Given the description of an element on the screen output the (x, y) to click on. 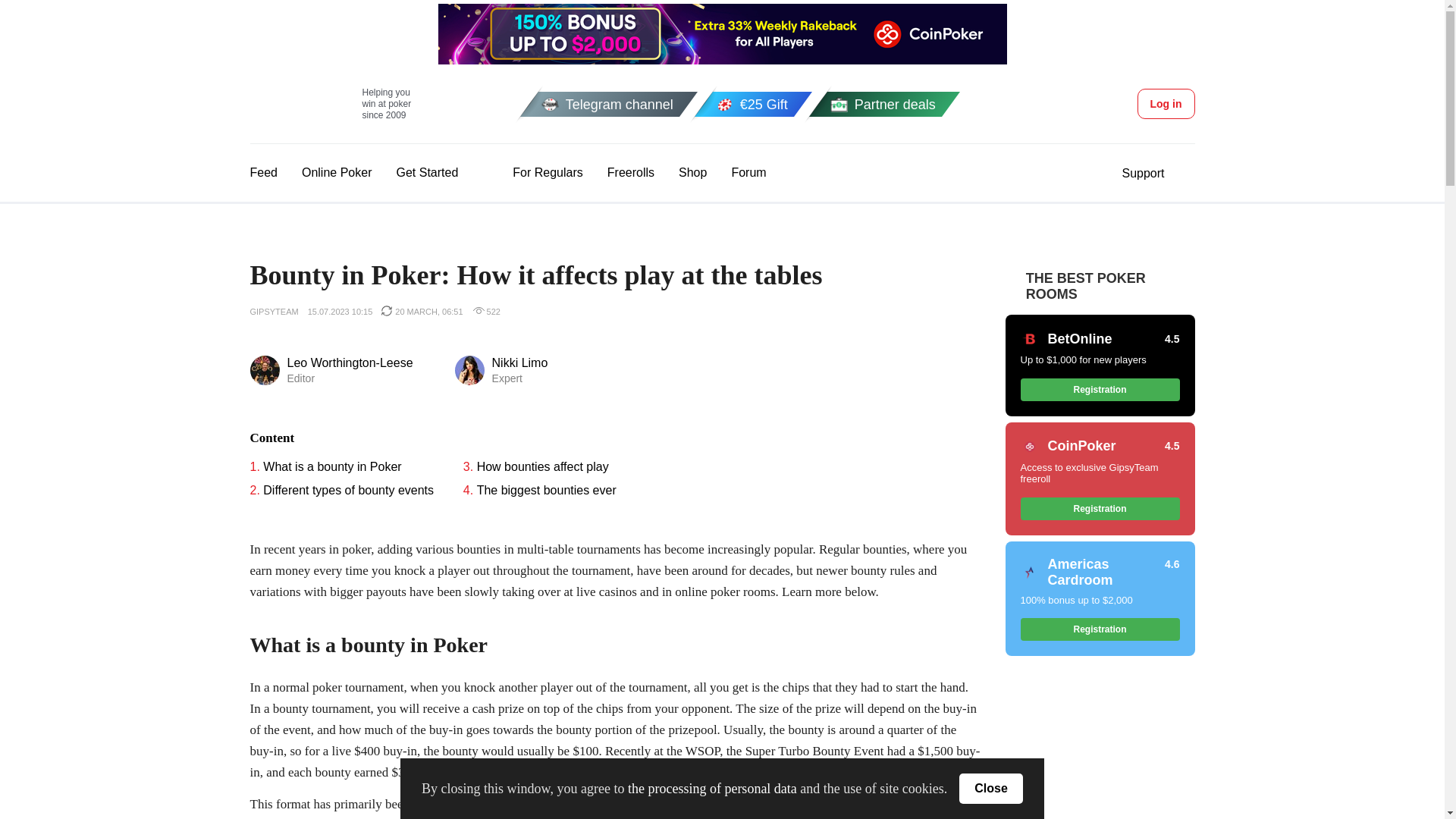
Feed (264, 172)
Forum (331, 103)
Shop (747, 172)
For Regulars (692, 172)
Online Poker (531, 172)
Freerolls (336, 172)
Support (630, 172)
Log in (1142, 172)
Get Started (1166, 103)
